Given the description of an element on the screen output the (x, y) to click on. 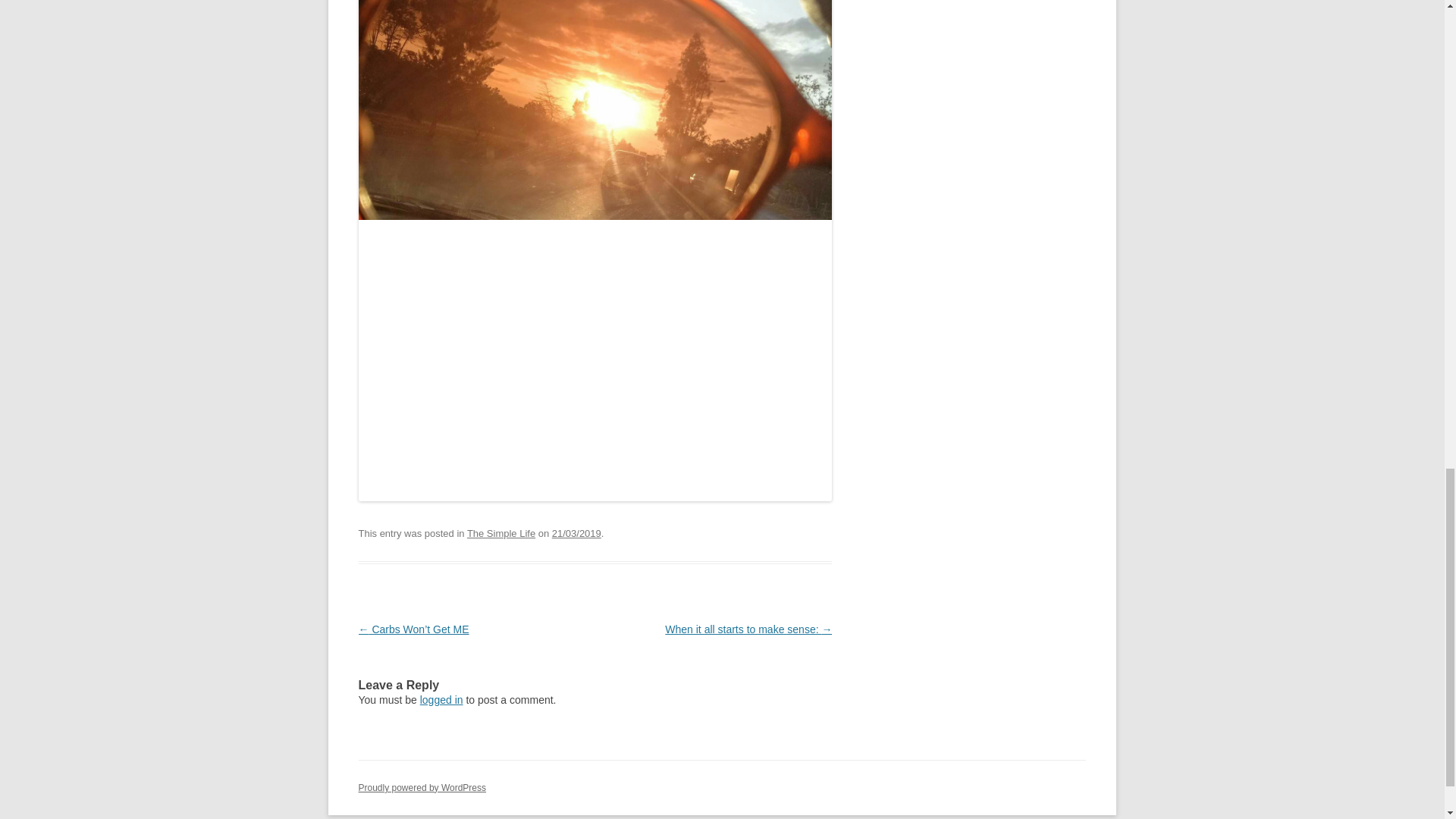
8:28 AM (576, 532)
Semantic Personal Publishing Platform (422, 787)
Proudly powered by WordPress (422, 787)
logged in (441, 699)
The Simple Life (501, 532)
